Given the description of an element on the screen output the (x, y) to click on. 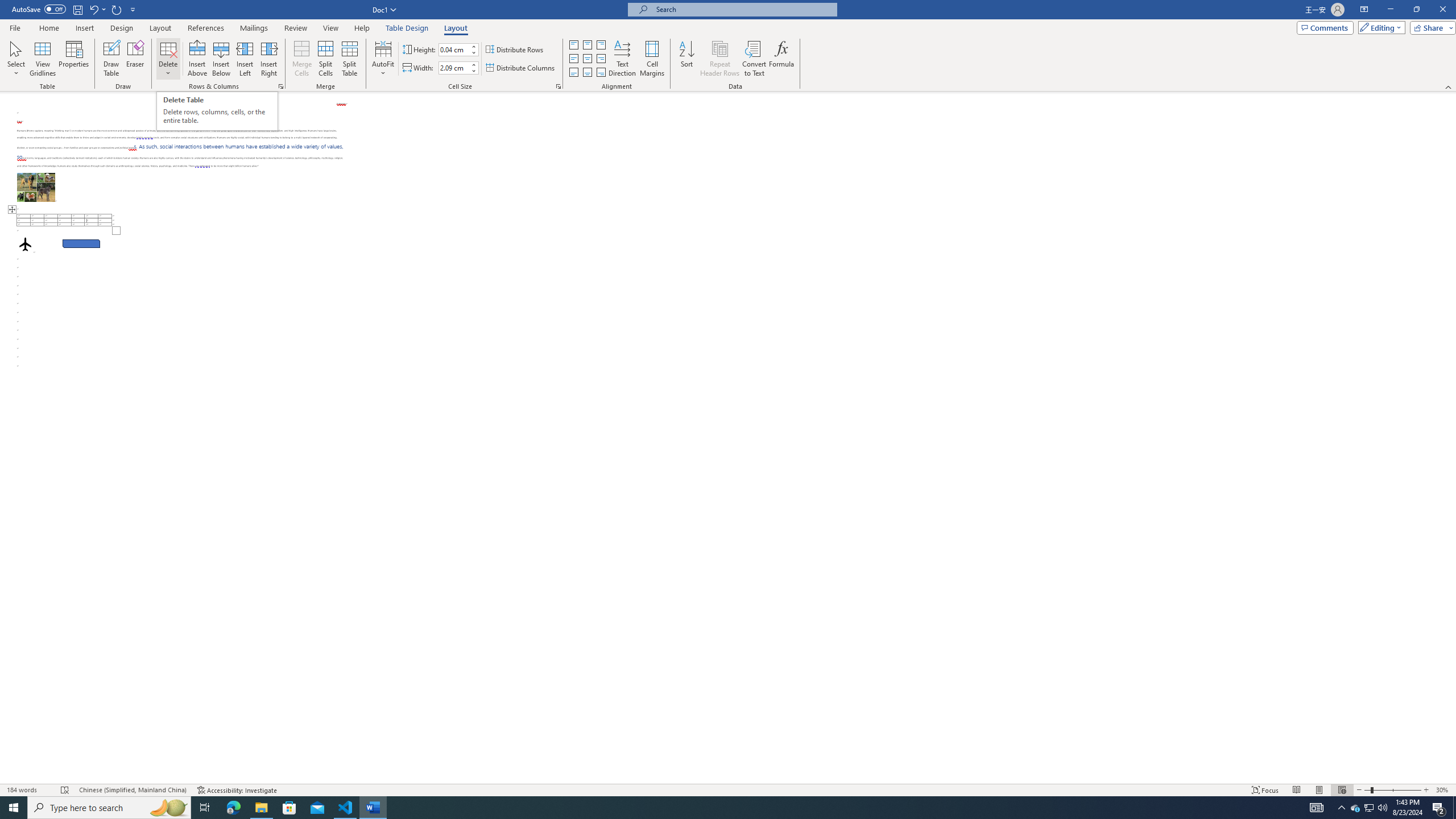
Align Top Center (587, 44)
View Gridlines (42, 58)
AutoFit (383, 58)
Repeat Row Height Spinner (117, 9)
Convert to Text... (754, 58)
